Given the description of an element on the screen output the (x, y) to click on. 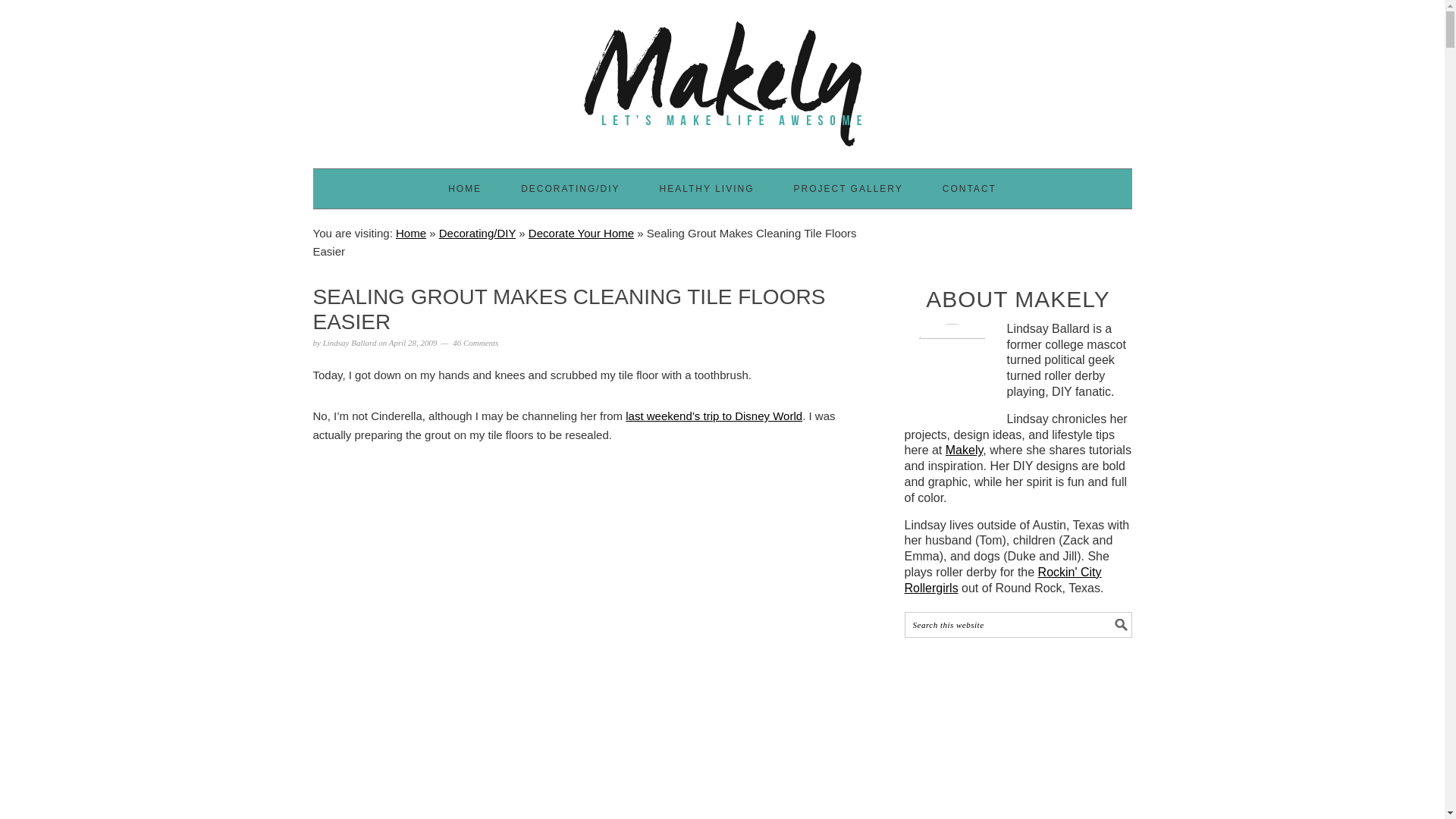
HOME (464, 188)
PROJECT GALLERY (847, 188)
Home (411, 232)
HEALTHY LIVING (706, 188)
Lindsay Ballard (350, 342)
Decorate Your Home (580, 232)
CONTACT (968, 188)
MAKELY (722, 77)
